Given the description of an element on the screen output the (x, y) to click on. 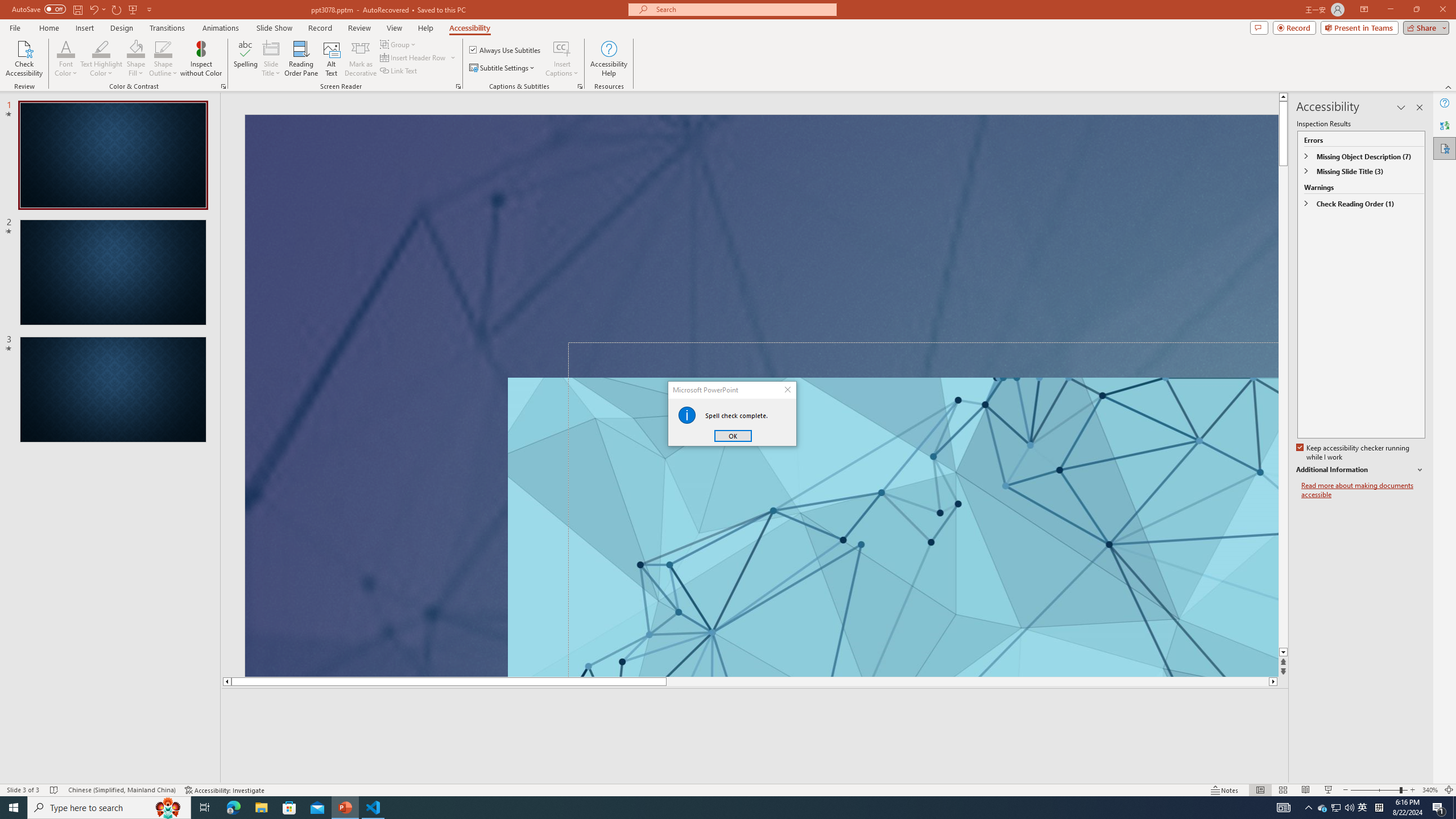
Reading Order Pane (301, 58)
Type here to search (108, 807)
Running applications (700, 807)
User Promoted Notification Area (1336, 807)
Insert Header Row (418, 56)
Shape Fill (135, 58)
Zoom 340% (1430, 790)
Tray Input Indicator - Chinese (Simplified, China) (1378, 807)
